Given the description of an element on the screen output the (x, y) to click on. 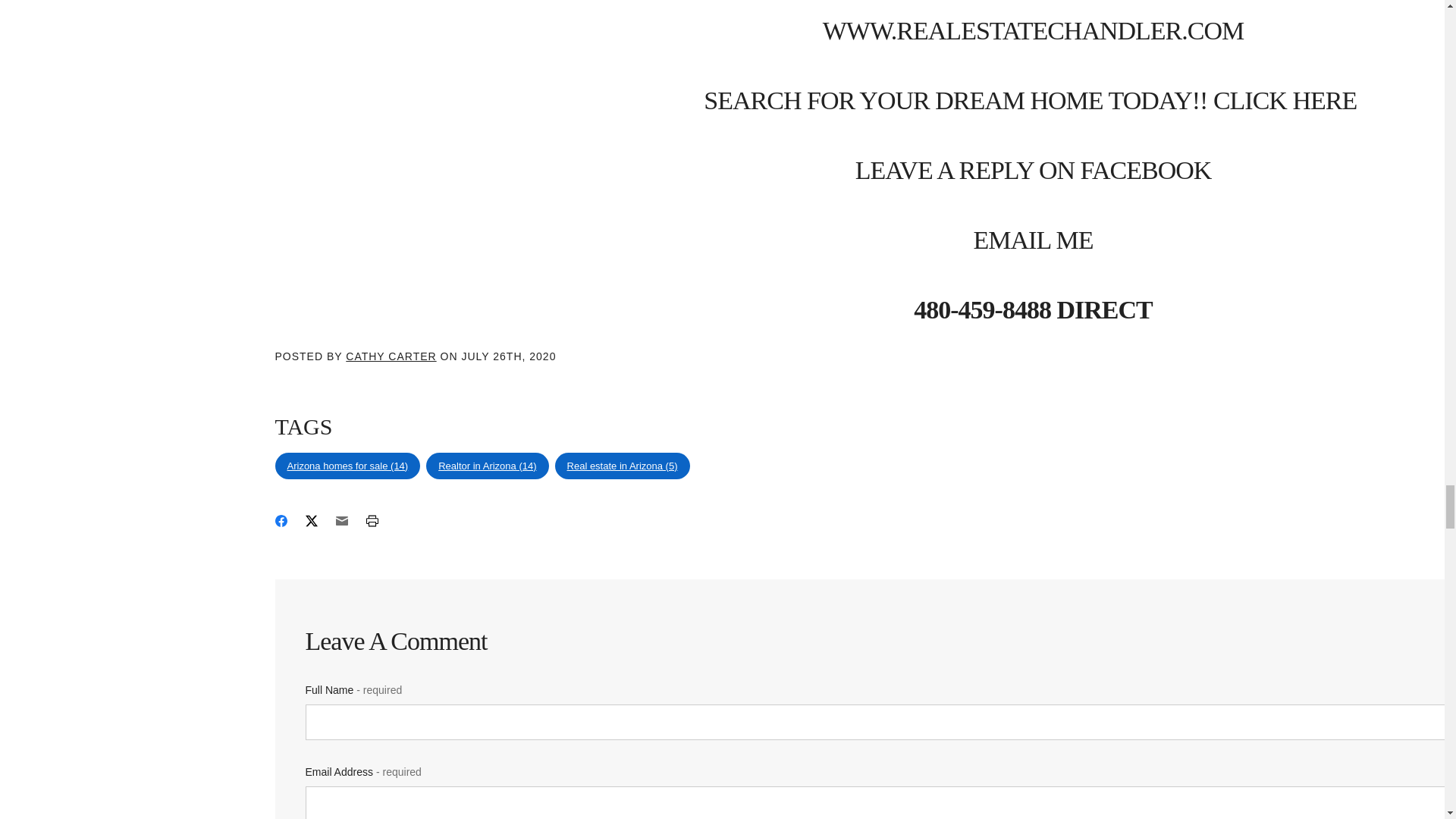
Arizona homes for sale (347, 465)
Real estate in Arizona (622, 465)
Realtor in Arizona (487, 465)
